Given the description of an element on the screen output the (x, y) to click on. 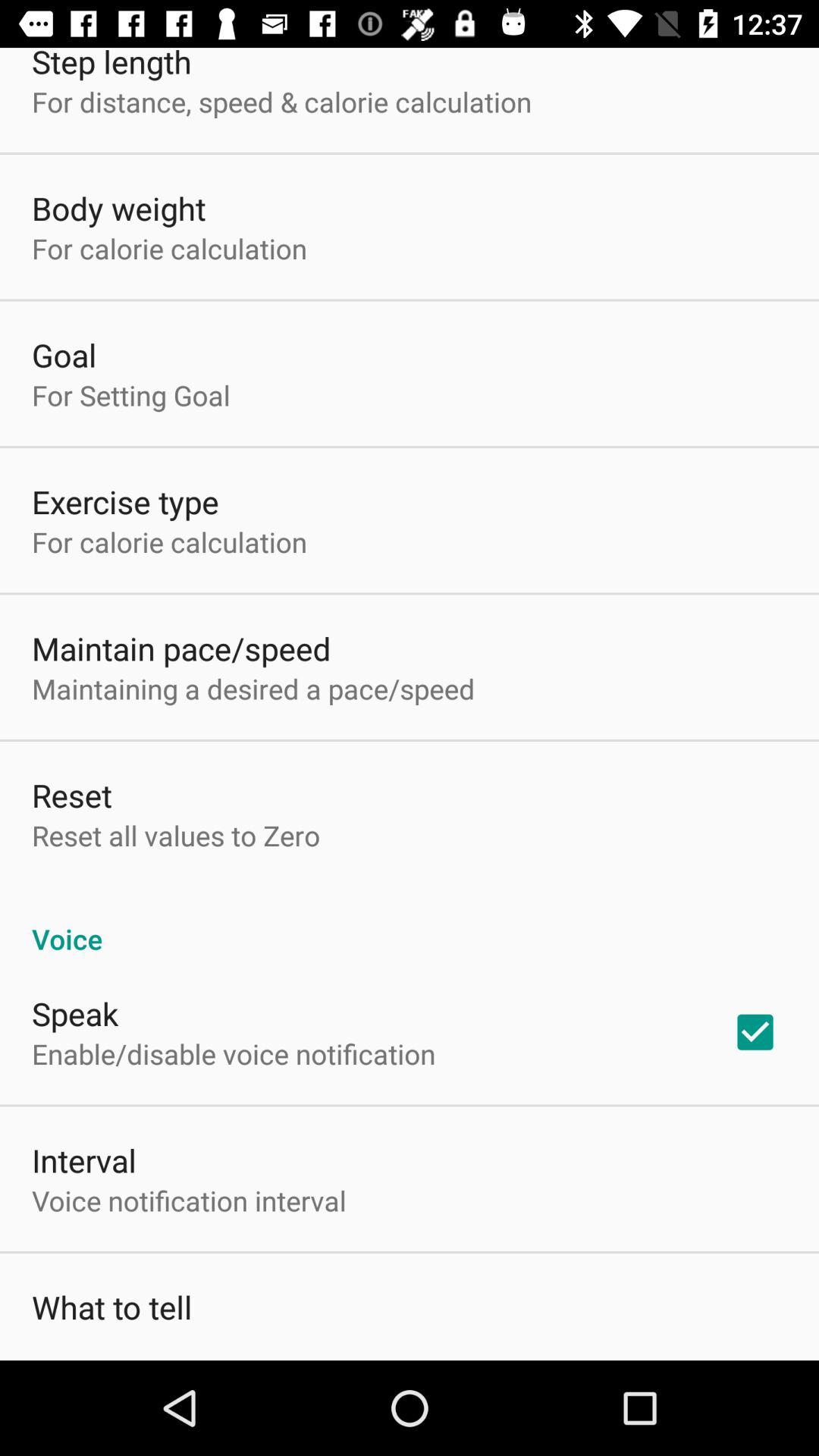
click the app to the right of the enable disable voice app (755, 1032)
